Given the description of an element on the screen output the (x, y) to click on. 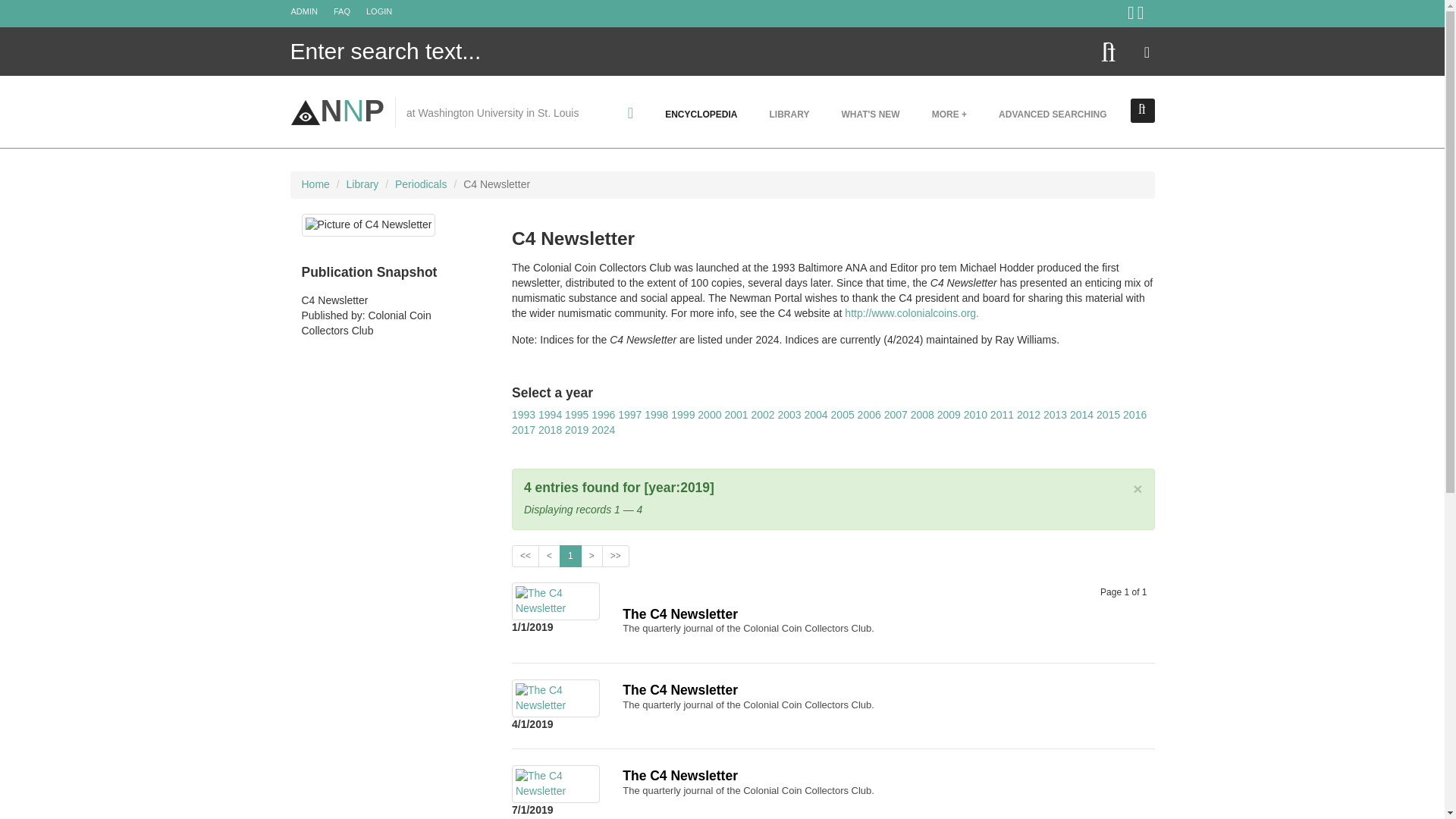
NNP (336, 110)
ADVANCED SEARCHING (1052, 113)
WHAT'S NEW (870, 113)
FAQ (349, 11)
LIBRARY (789, 113)
ENCYCLOPEDIA (700, 113)
Home (336, 110)
LOGIN (386, 11)
Home (315, 184)
ADMIN (311, 11)
